Given the description of an element on the screen output the (x, y) to click on. 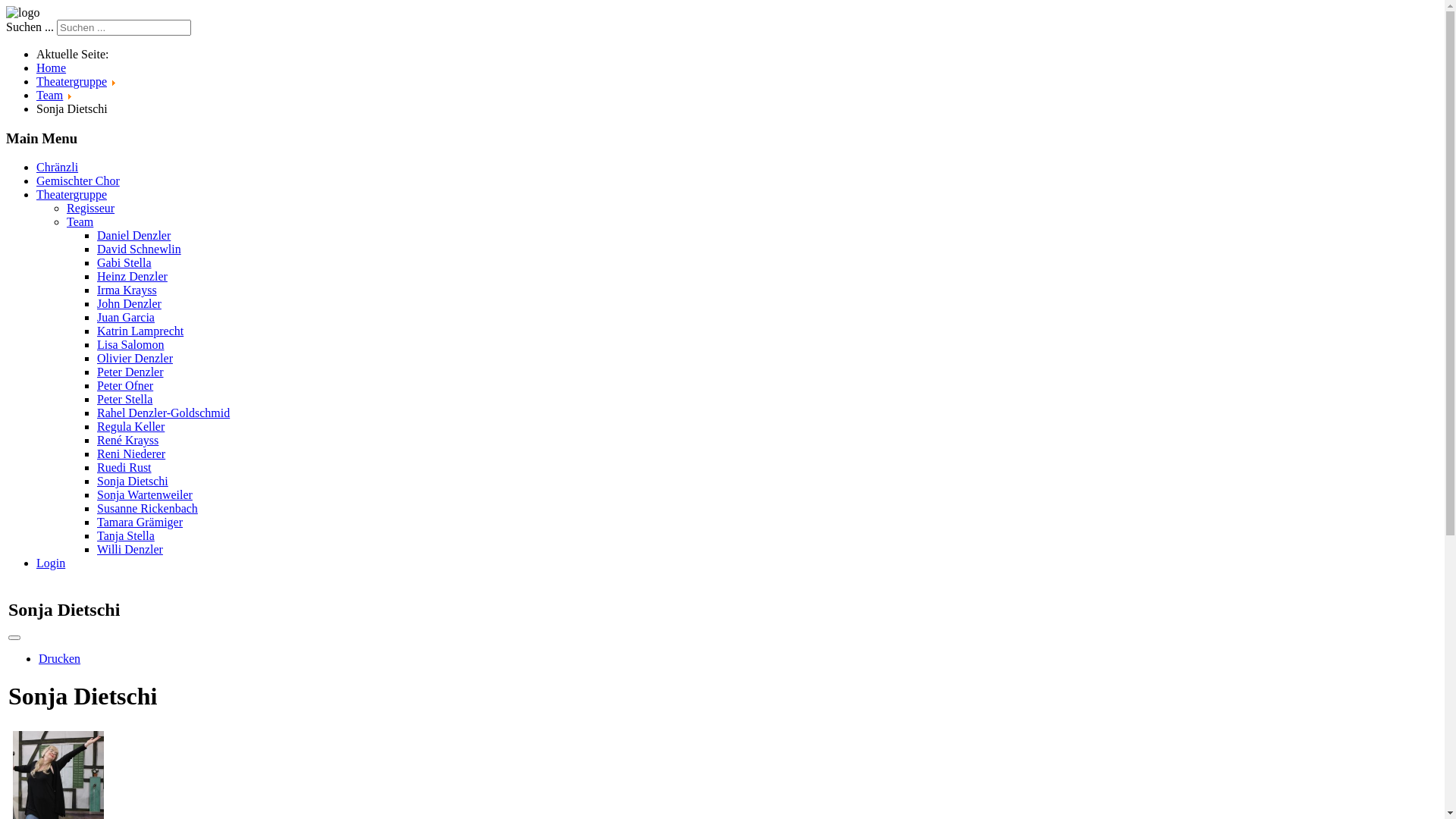
Irma Krayss Element type: text (126, 289)
John Denzler Element type: text (129, 303)
David Schnewlin Element type: text (139, 248)
Ruedi Rust Element type: text (124, 467)
Peter Denzler Element type: text (130, 371)
Katrin Lamprecht Element type: text (140, 330)
Rahel Denzler-Goldschmid Element type: text (163, 412)
Team Element type: text (79, 221)
Home Element type: text (50, 67)
Reni Niederer Element type: text (131, 453)
Heinz Denzler Element type: text (132, 275)
Susanne Rickenbach Element type: text (147, 508)
Lisa Salomon Element type: text (130, 344)
Peter Stella Element type: text (124, 398)
Drucken Element type: text (59, 658)
Gemischter Chor Element type: text (77, 180)
Peter Ofner Element type: text (125, 385)
Sonja Wartenweiler Element type: text (144, 494)
Willi Denzler Element type: text (130, 548)
Juan Garcia Element type: text (125, 316)
Tanja Stella Element type: text (125, 535)
Gabi Stella Element type: text (124, 262)
Theatergruppe Element type: text (71, 81)
Login Element type: text (50, 562)
Regisseur Element type: text (90, 207)
Sonja Dietschi Element type: text (132, 480)
Olivier Denzler Element type: text (134, 357)
Daniel Denzler Element type: text (133, 235)
Regula Keller Element type: text (130, 426)
Team Element type: text (49, 94)
Theatergruppe Element type: text (71, 194)
